Given the description of an element on the screen output the (x, y) to click on. 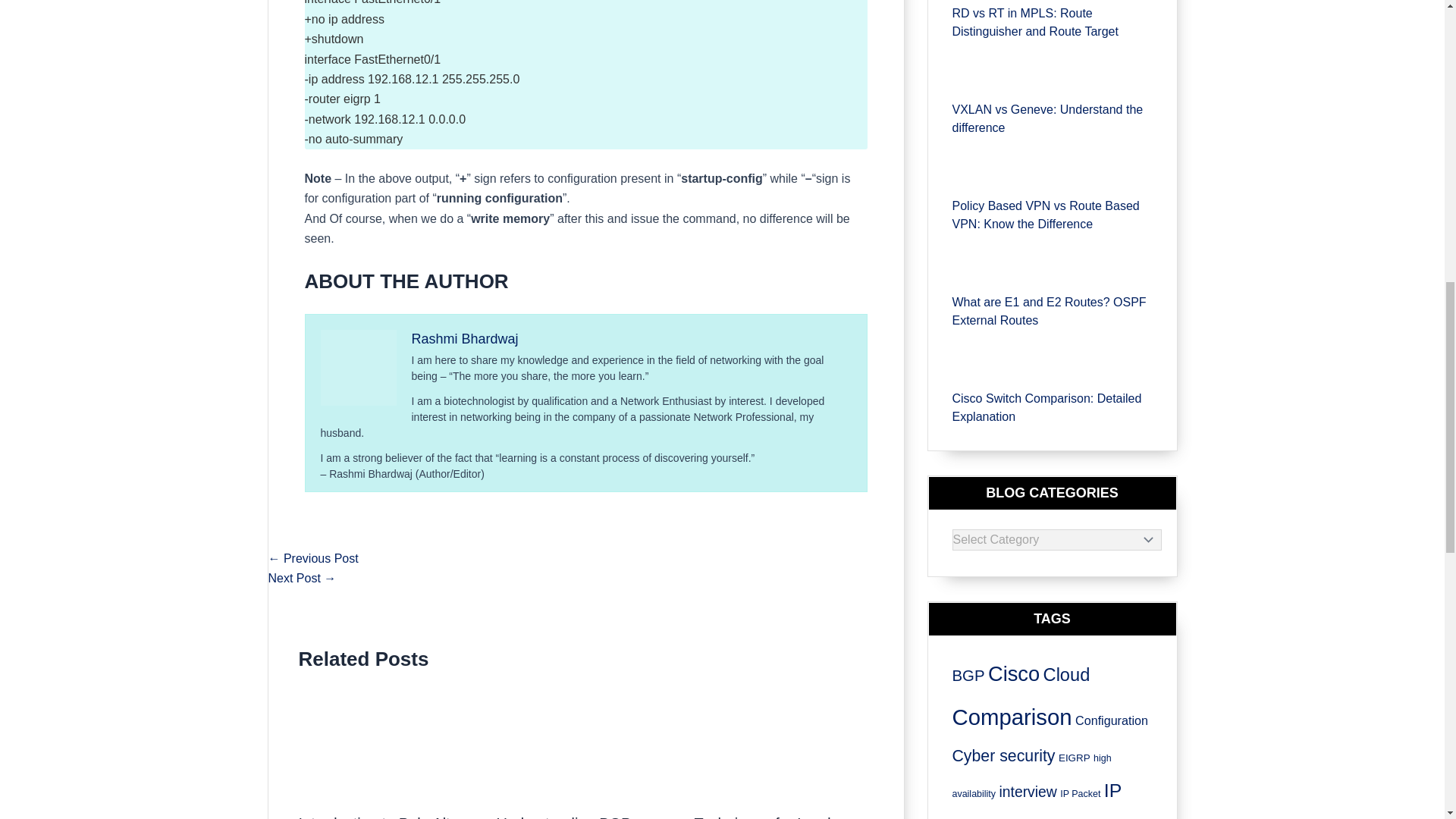
Networking Scenario Based Interview Questions in 2024 (301, 577)
